Given the description of an element on the screen output the (x, y) to click on. 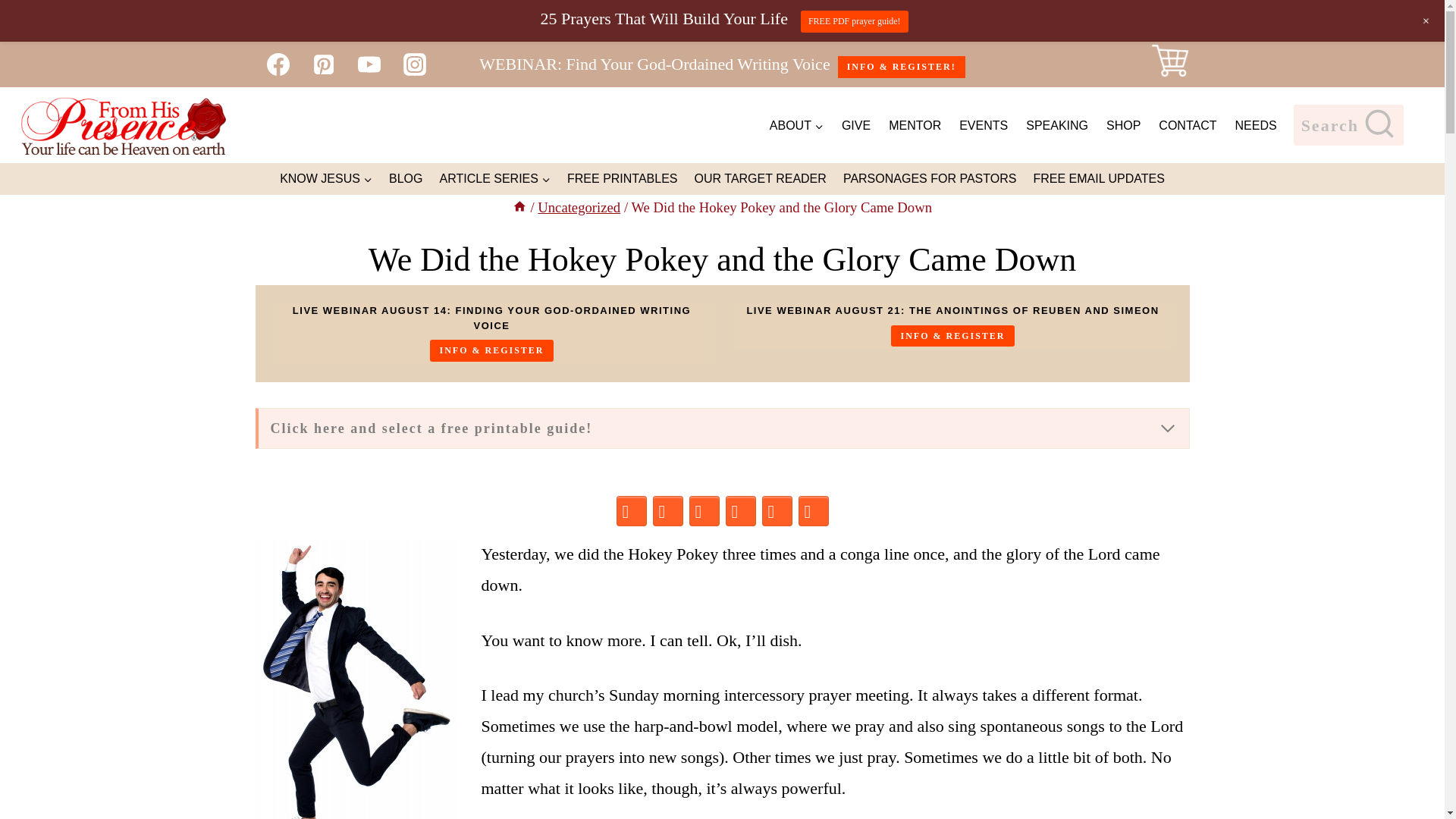
ARTICLE SERIES (493, 178)
Pinterest (667, 511)
BLOG (405, 178)
PrintFriendly (812, 511)
LinkedIn (740, 511)
Search (1348, 124)
MENTOR (914, 124)
SPEAKING (1056, 124)
ABOUT (796, 124)
Email This (776, 511)
